Given the description of an element on the screen output the (x, y) to click on. 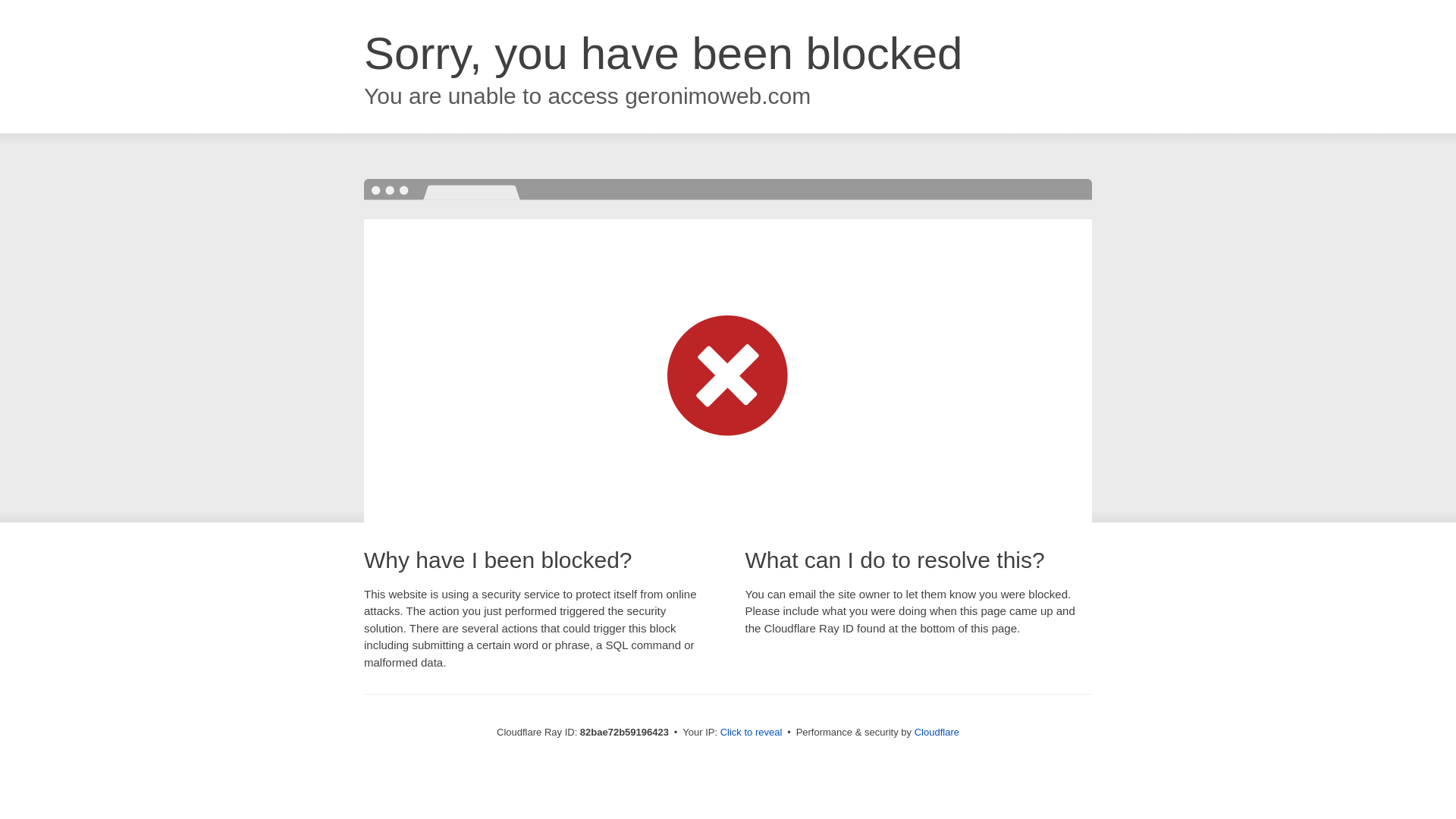
Cloudflare Element type: text (936, 731)
Click to reveal Element type: text (751, 732)
